Given the description of an element on the screen output the (x, y) to click on. 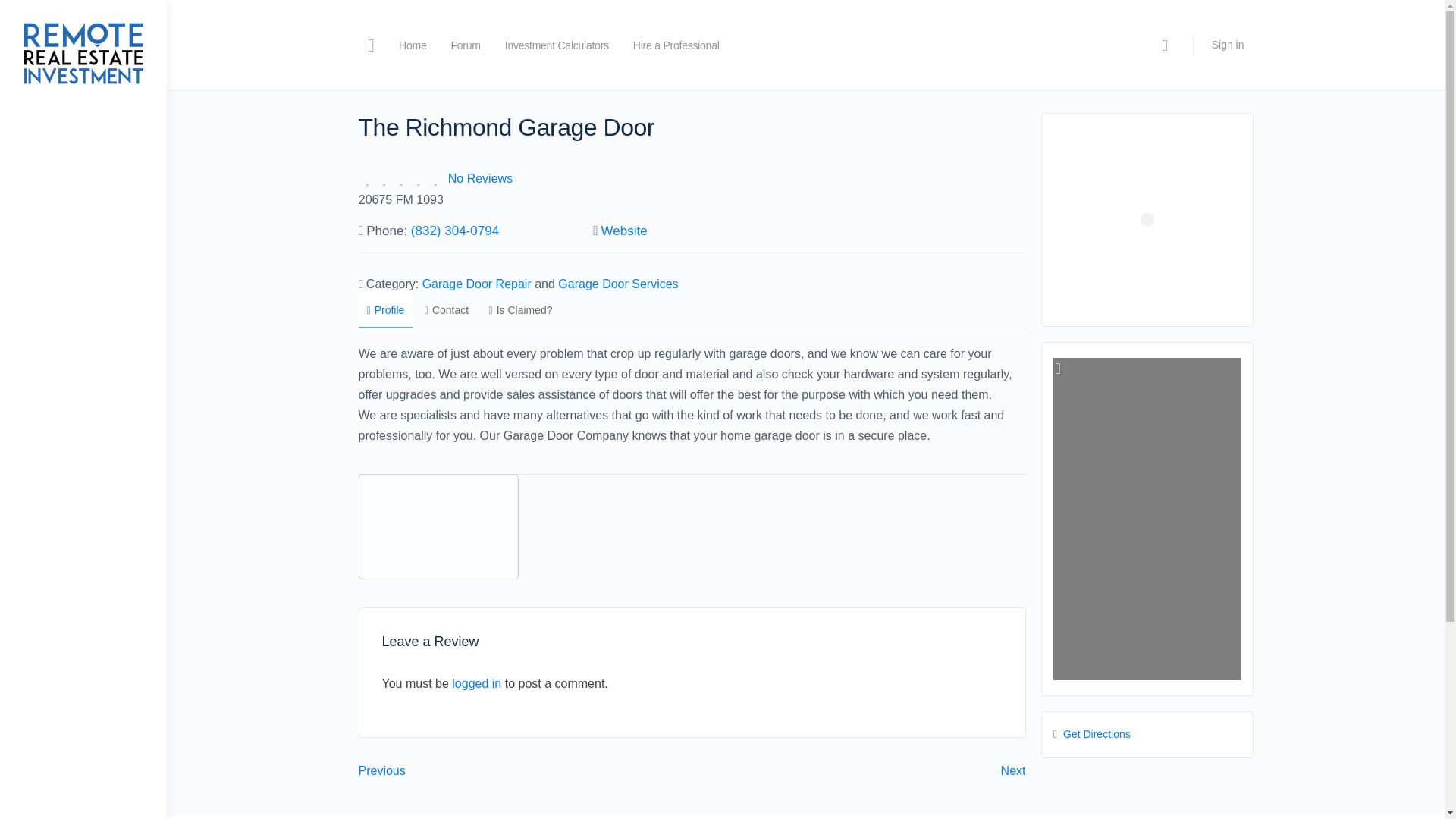
Contact (446, 310)
Investment Calculators (556, 45)
Is Claimed? (520, 310)
Get Directions (1096, 734)
Garage Door Services (617, 283)
logged in (475, 683)
Website (624, 230)
Sign in (1227, 44)
Garage Door Repair (476, 283)
Next (1013, 770)
